Given the description of an element on the screen output the (x, y) to click on. 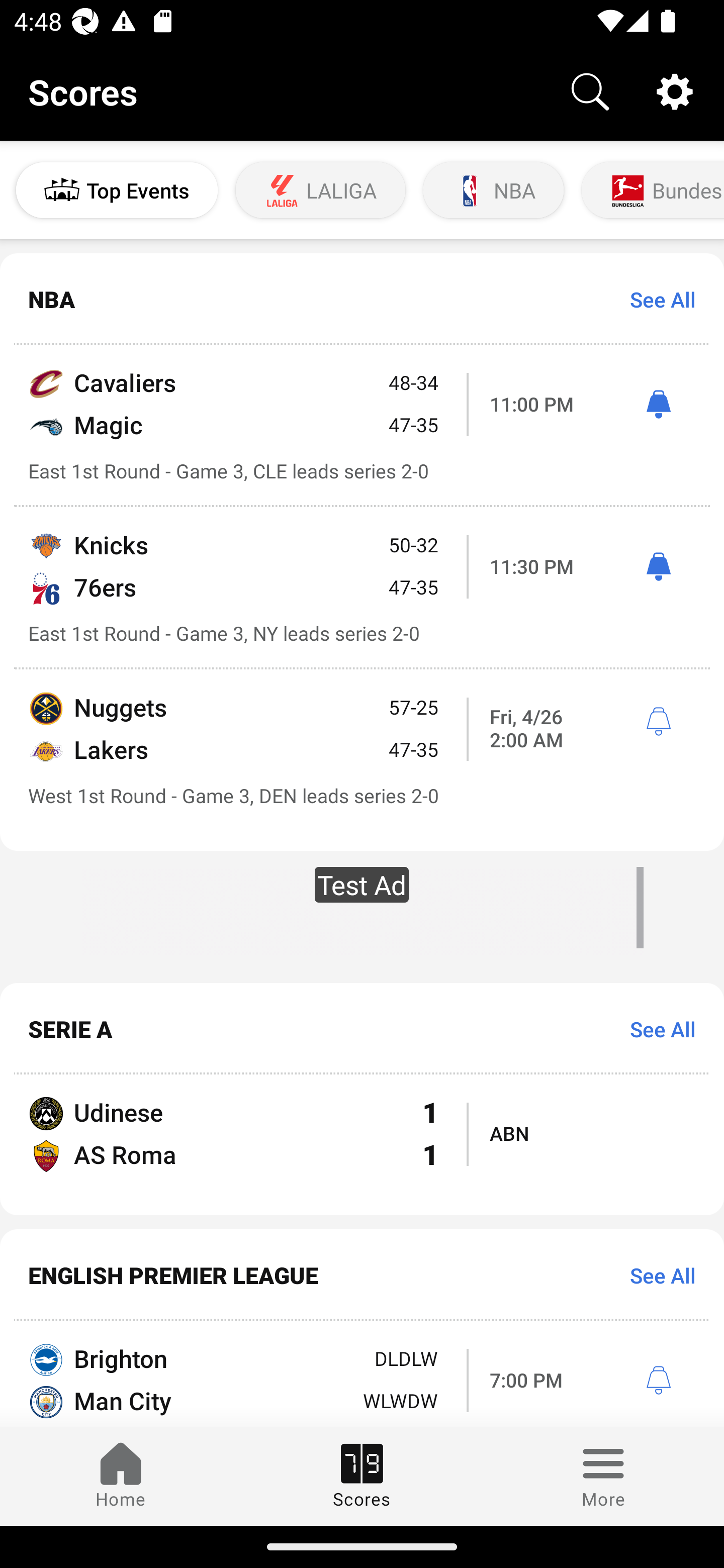
Search (590, 90)
Settings (674, 90)
 Top Events (116, 190)
LALIGA (320, 190)
NBA (492, 190)
Bundesliga (651, 190)
NBA See All (362, 299)
See All (655, 299)
ì (658, 404)
ì (658, 567)
í (658, 721)
SERIE A See All (362, 1028)
See All (655, 1028)
Udinese 1 AS Roma 1 ABN (362, 1144)
ENGLISH PREMIER LEAGUE See All (362, 1274)
See All (655, 1274)
Brighton DLDLW Man City WLWDW 7:00 PM í (362, 1373)
í (658, 1381)
Home (120, 1475)
More (603, 1475)
